Given the description of an element on the screen output the (x, y) to click on. 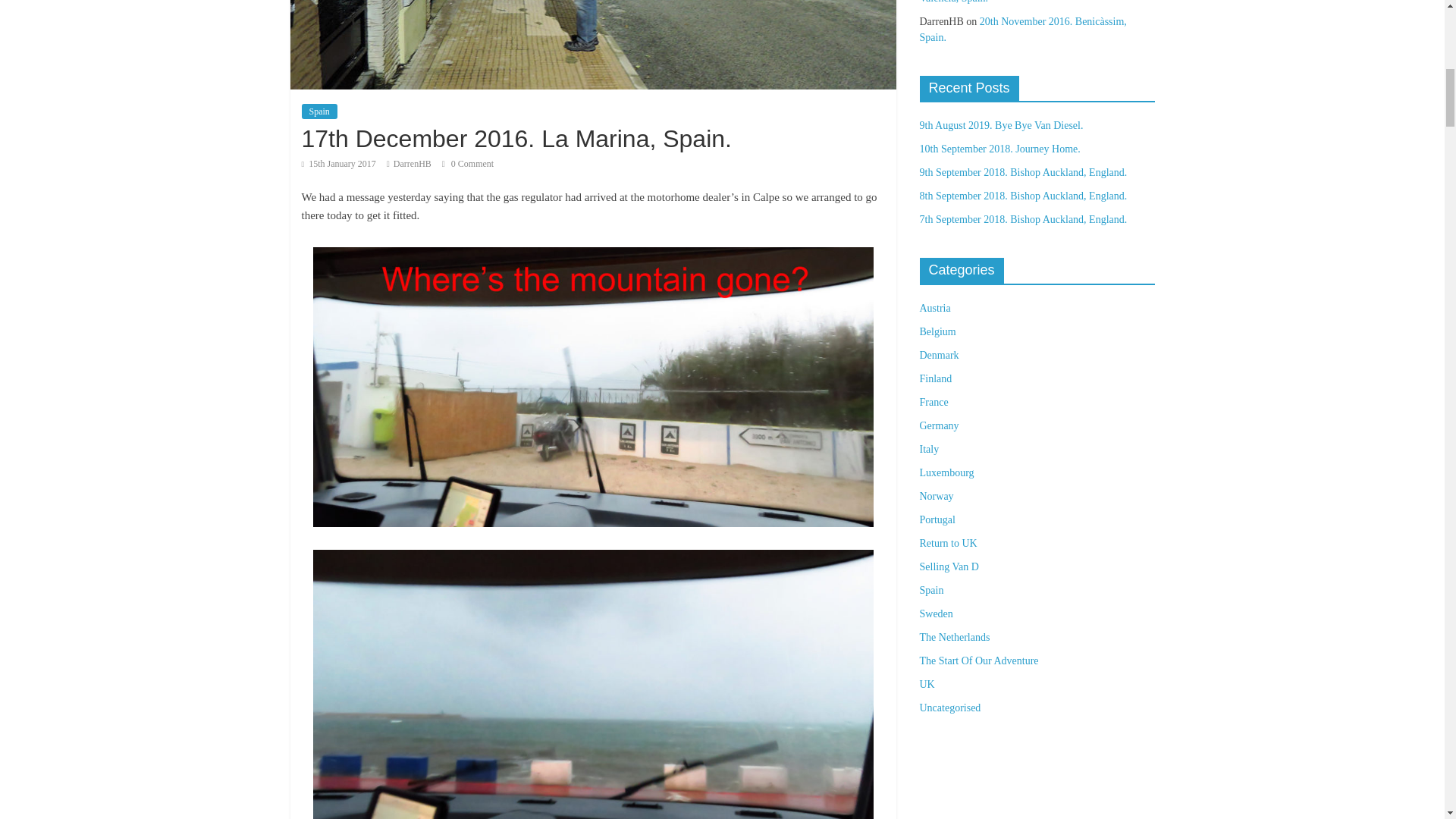
DarrenHB (411, 163)
3:53 pm (338, 163)
